Given the description of an element on the screen output the (x, y) to click on. 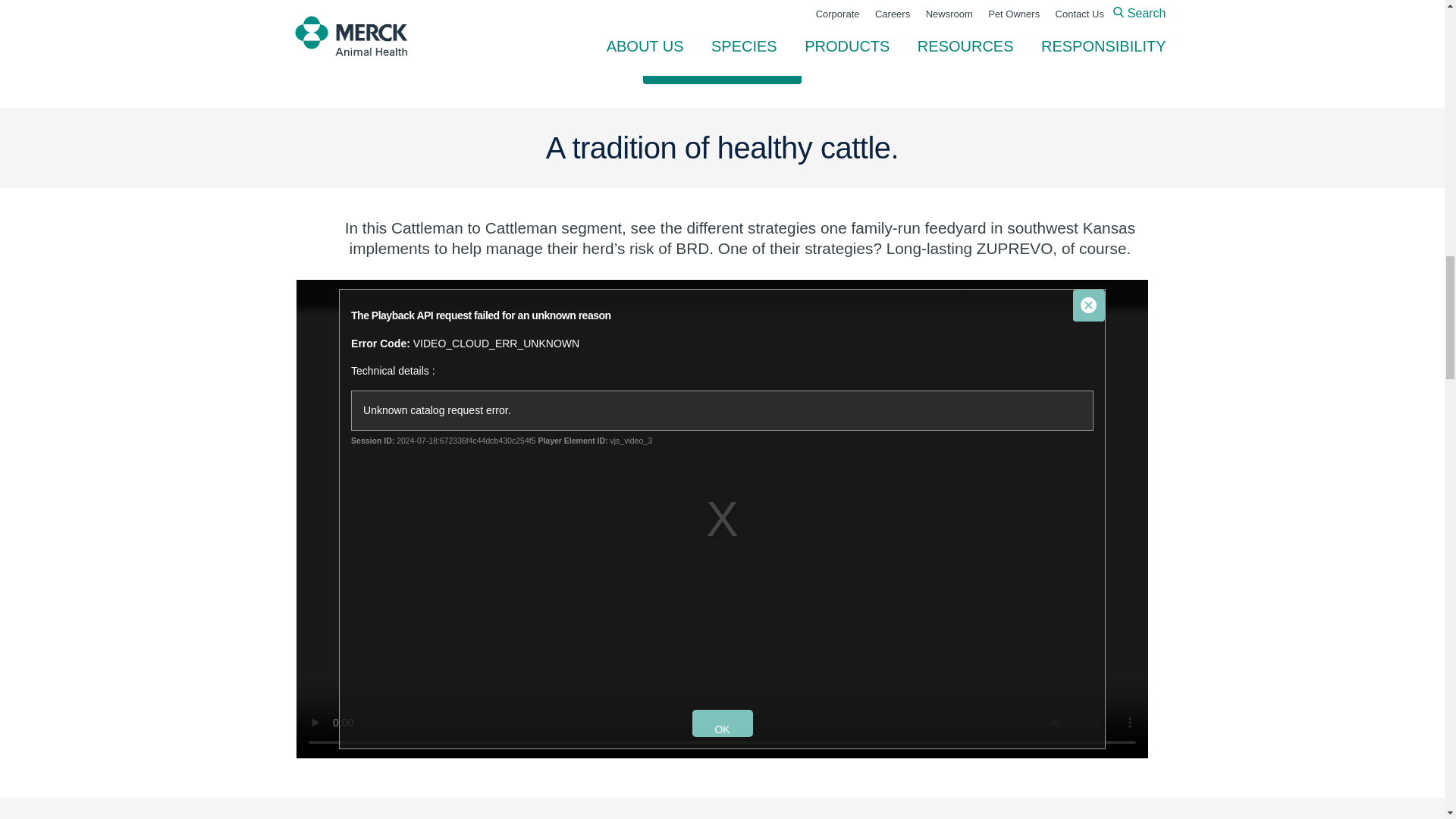
Close Modal Dialog (1089, 305)
